Given the description of an element on the screen output the (x, y) to click on. 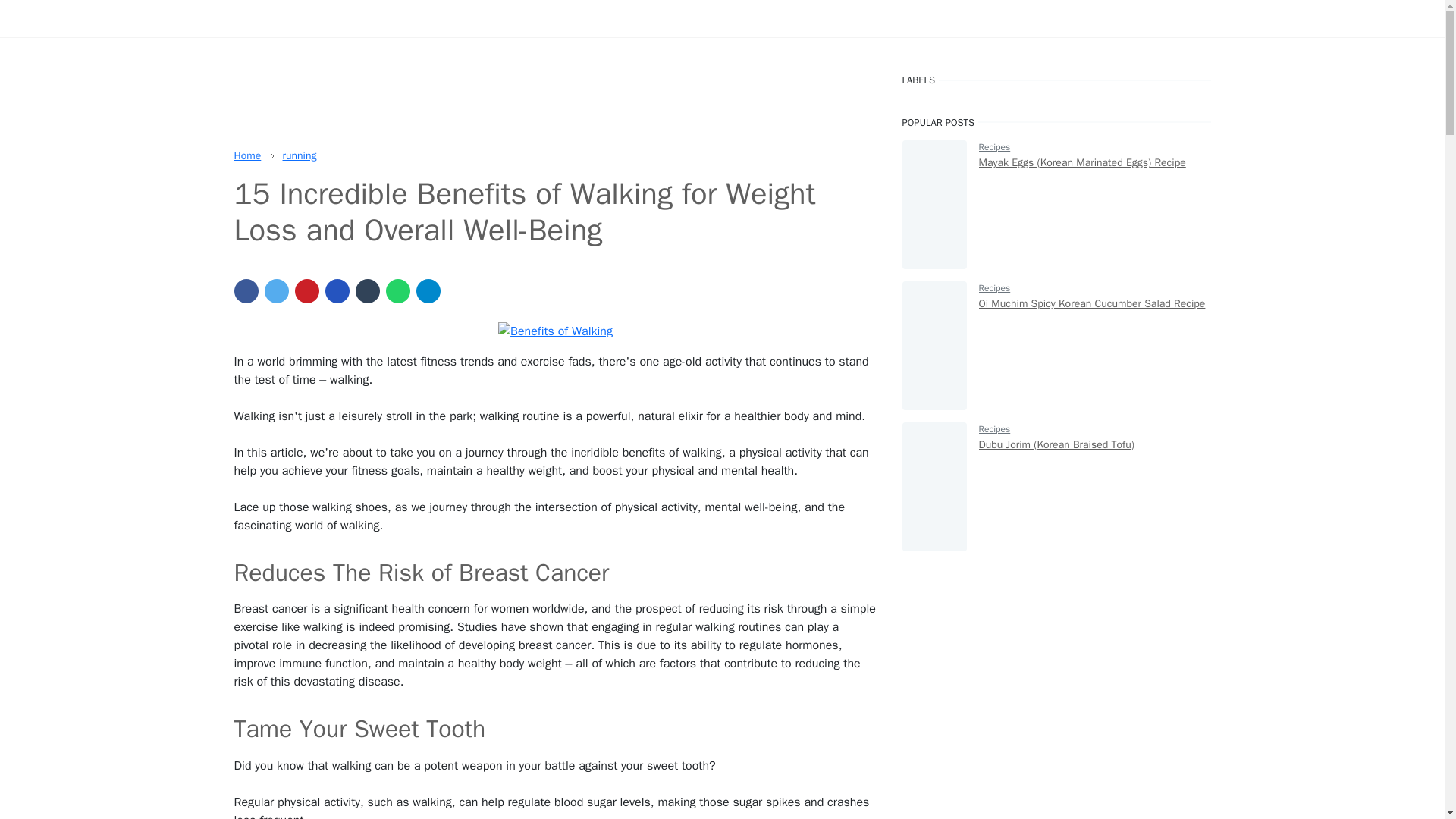
Recipes (994, 146)
Recipes (994, 287)
Share to telegram (426, 291)
Tweet This (275, 291)
Facebook Share (244, 291)
Pin It (306, 291)
Linkedin Share (336, 291)
Tumblr Share (366, 291)
running (298, 155)
Recipes (994, 428)
